Given the description of an element on the screen output the (x, y) to click on. 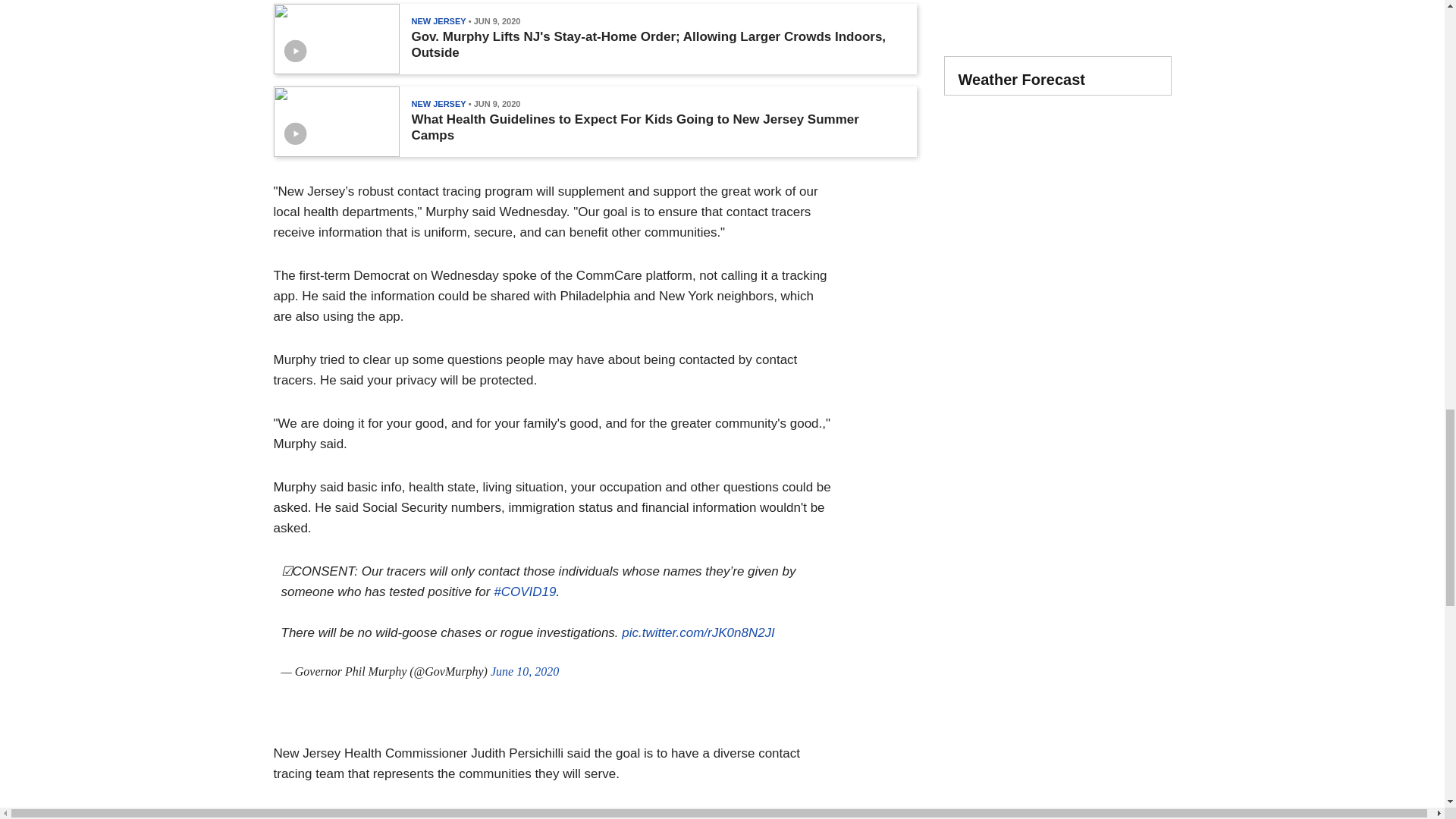
NEW JERSEY (437, 103)
NEW JERSEY (437, 20)
June 10, 2020 (524, 671)
